Given the description of an element on the screen output the (x, y) to click on. 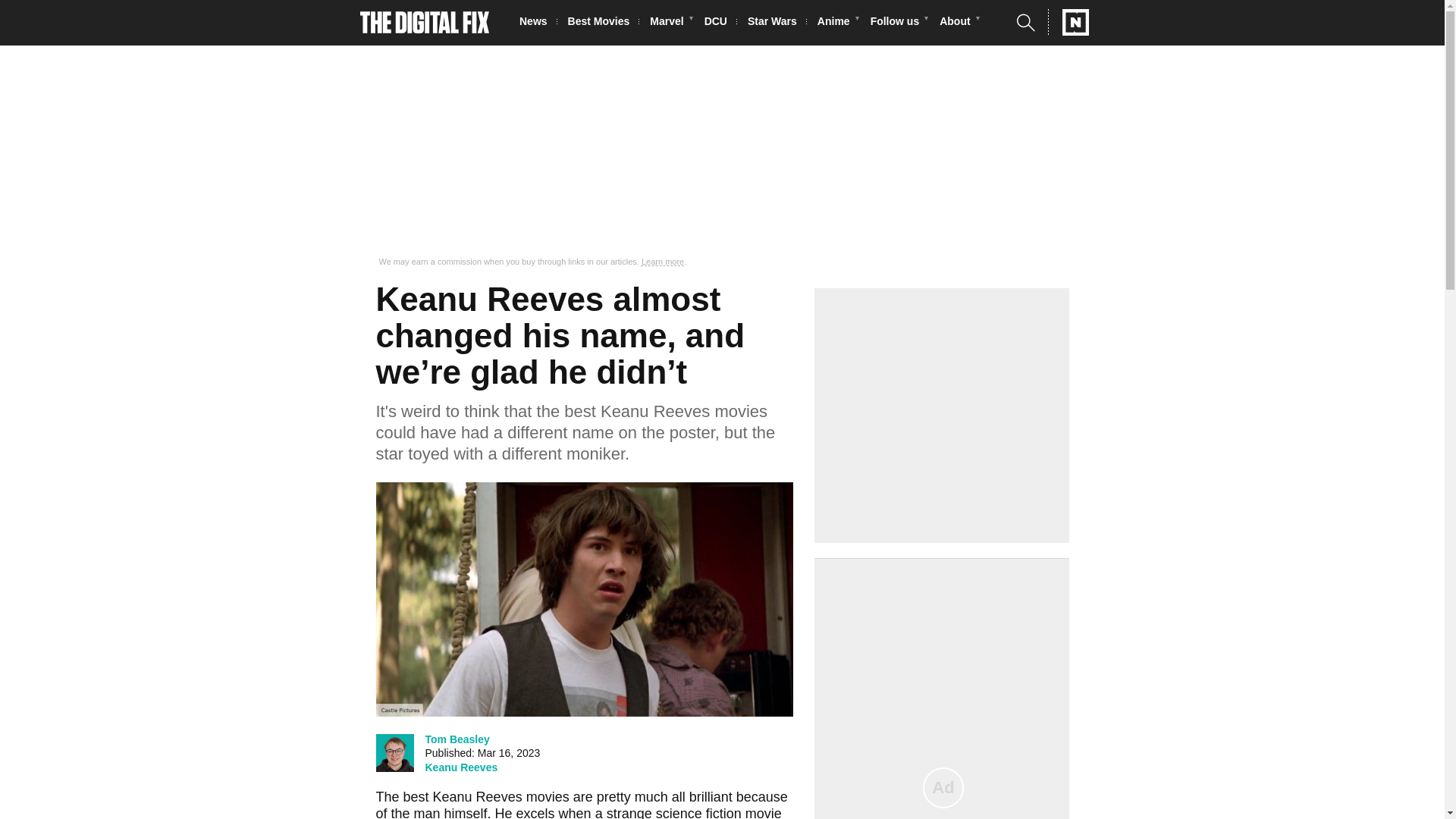
Anime (837, 22)
Follow us (899, 22)
science fiction movie (718, 812)
Star Wars (777, 22)
best Keanu Reeves movies (486, 796)
Keanu Reeves (461, 767)
Tom Beasley (457, 739)
The Digital Fix (424, 22)
Network N Media (1068, 22)
Marvel Cinematic Universe News (671, 22)
